Given the description of an element on the screen output the (x, y) to click on. 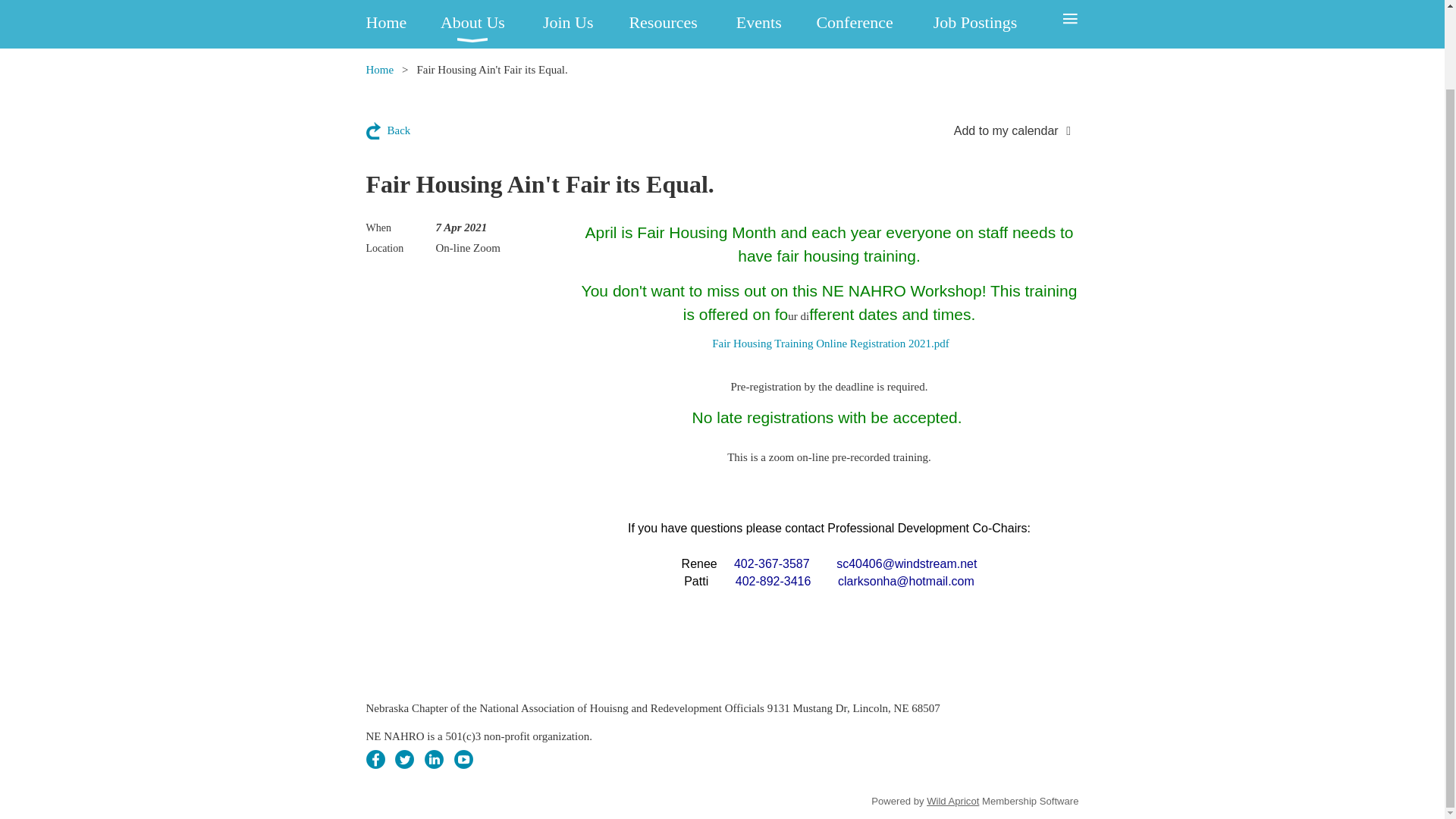
Job Postings (995, 24)
About Us (492, 24)
Resources (681, 24)
Events (776, 24)
Home (379, 69)
Join Us (585, 24)
402-892-3416 (772, 581)
Conference (874, 24)
Back (387, 130)
Job Postings (995, 24)
Resources (681, 24)
Conference (874, 24)
YouTube (463, 759)
LinkedIn (434, 759)
Twitter (403, 759)
